Given the description of an element on the screen output the (x, y) to click on. 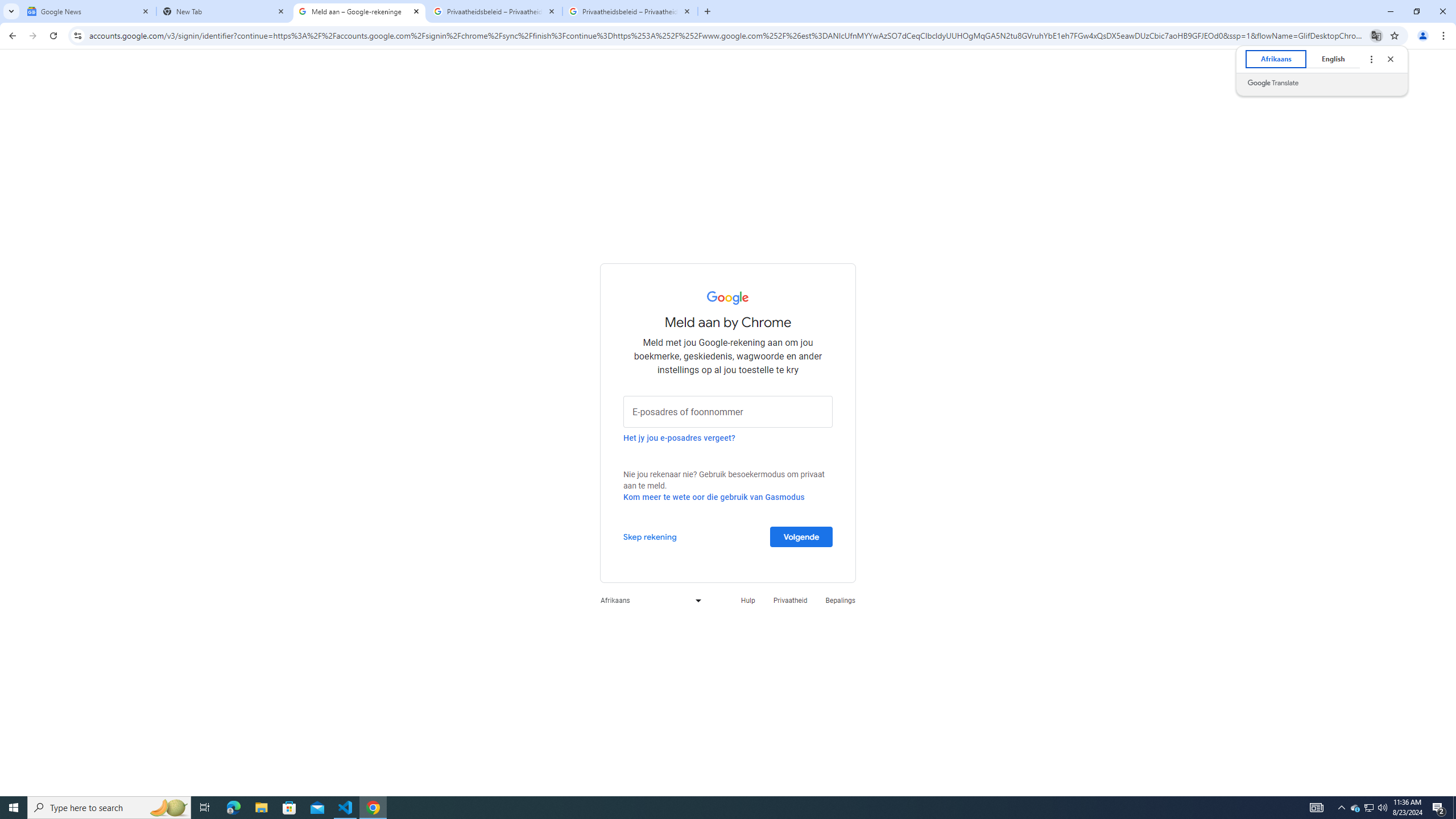
Start (13, 807)
Volgende (801, 536)
Notification Chevron (1355, 807)
Microsoft Store (1341, 807)
Bepalings (289, 807)
Translate this page (840, 600)
AutomationID: 4105 (1376, 35)
